Given the description of an element on the screen output the (x, y) to click on. 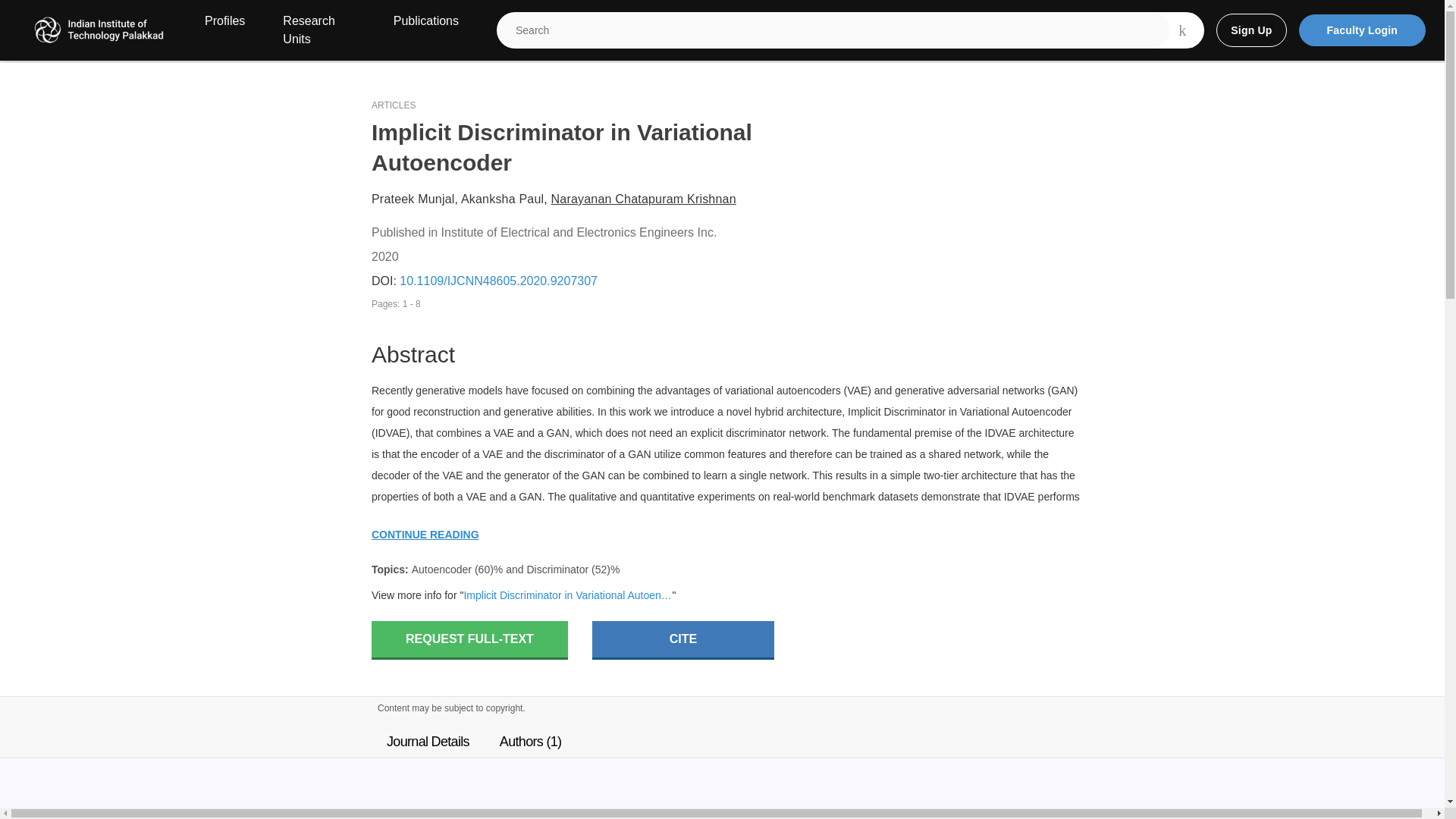
Research Units (318, 30)
Institution logo (98, 30)
Narayanan Chatapuram Krishnan (643, 198)
Publications (425, 30)
Sign Up (1250, 29)
Journal Details (427, 741)
Discriminator (556, 569)
Implicit Discriminator in Variational Autoencoder (567, 594)
Autoencoder (441, 569)
Faculty Login (1361, 29)
CITE (683, 640)
Profiles (224, 30)
REQUEST FULL-TEXT (469, 640)
